Given the description of an element on the screen output the (x, y) to click on. 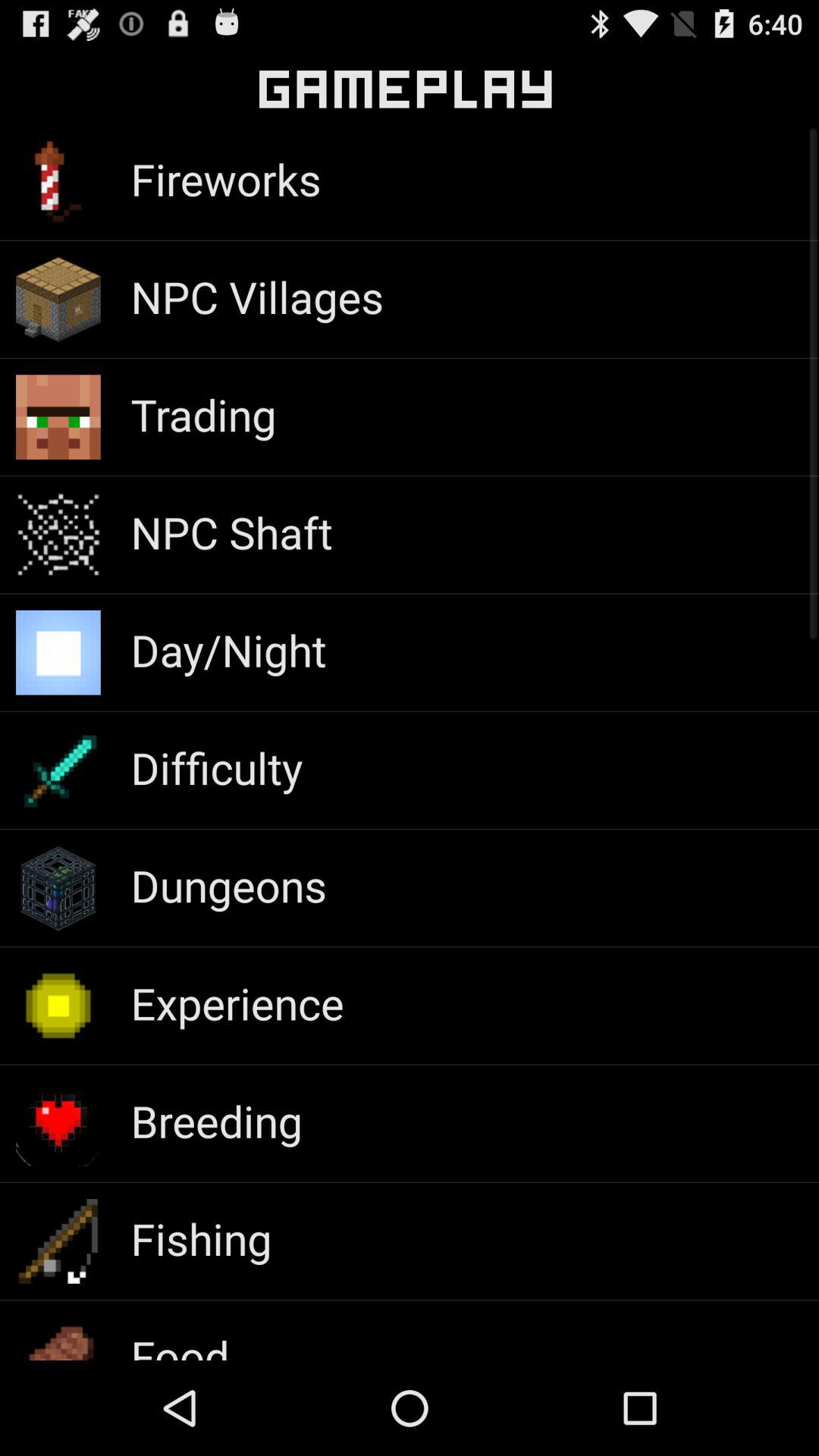
turn off item above dungeons (216, 767)
